Given the description of an element on the screen output the (x, y) to click on. 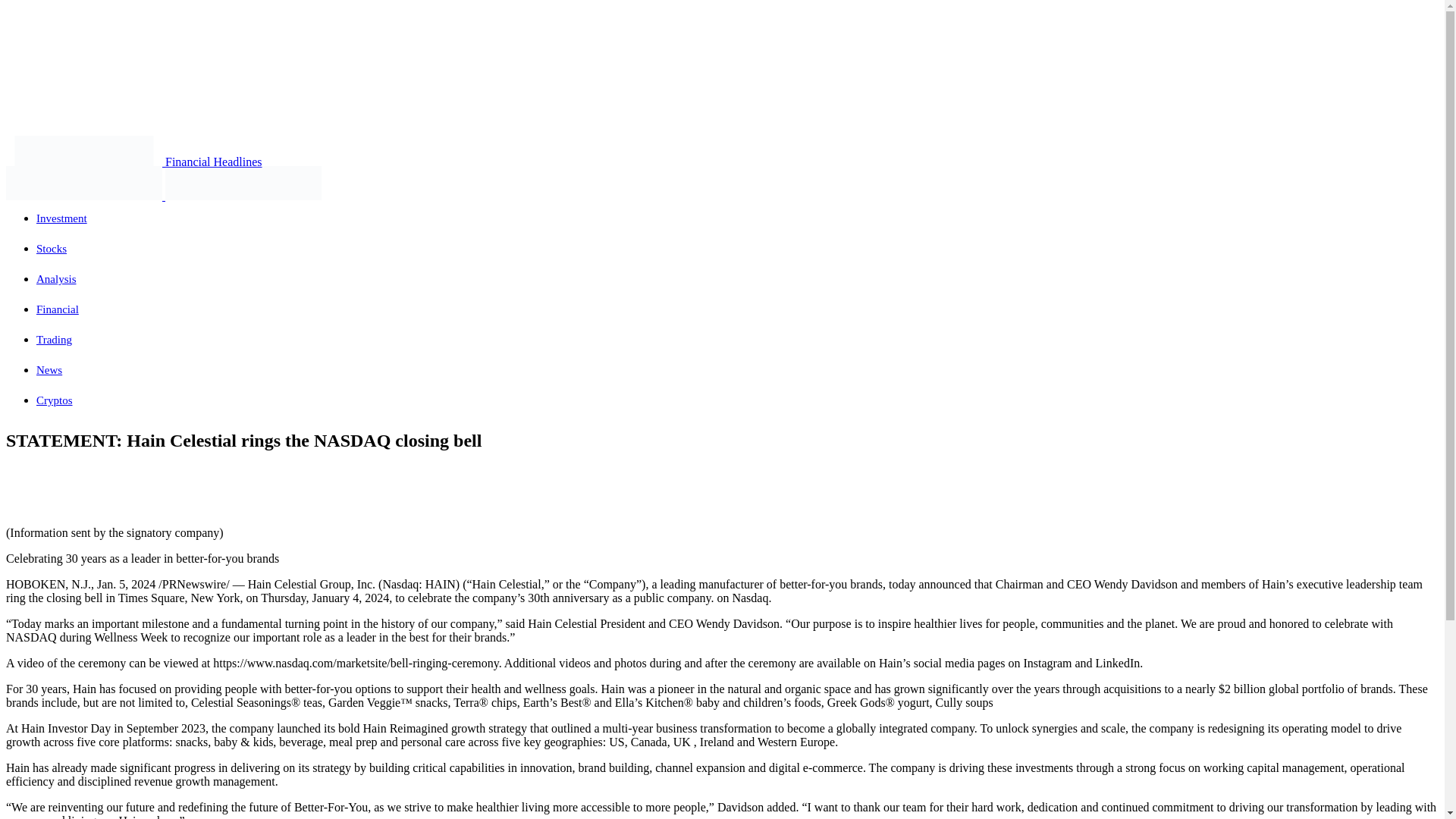
Stocks (51, 248)
Financial (57, 309)
News (49, 369)
Trading (53, 339)
Analysis (56, 278)
Financial Headlines (133, 161)
Cryptos (54, 399)
Investment (61, 218)
